Given the description of an element on the screen output the (x, y) to click on. 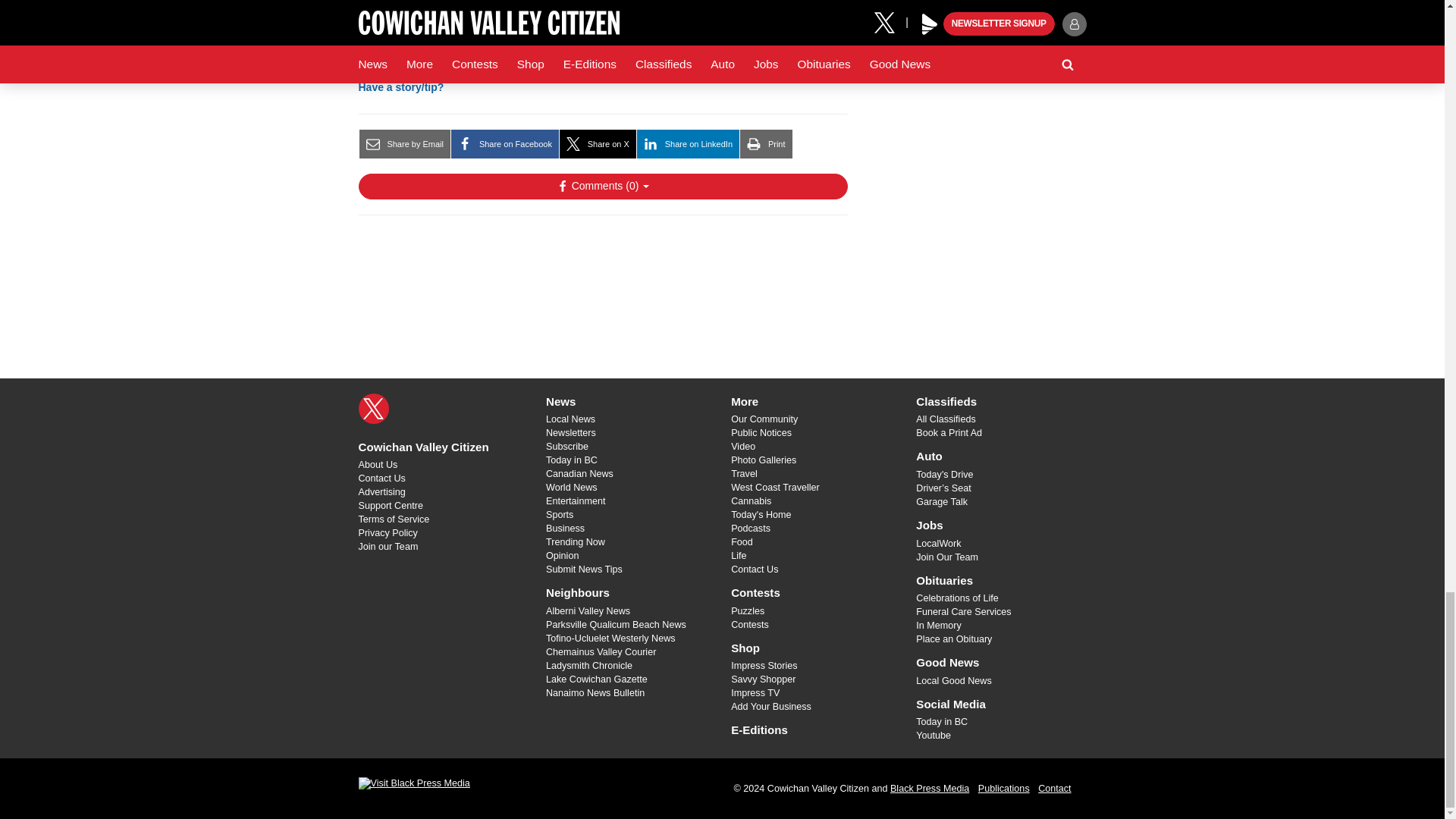
Show Comments (602, 186)
X (373, 408)
related story (591, 15)
